Given the description of an element on the screen output the (x, y) to click on. 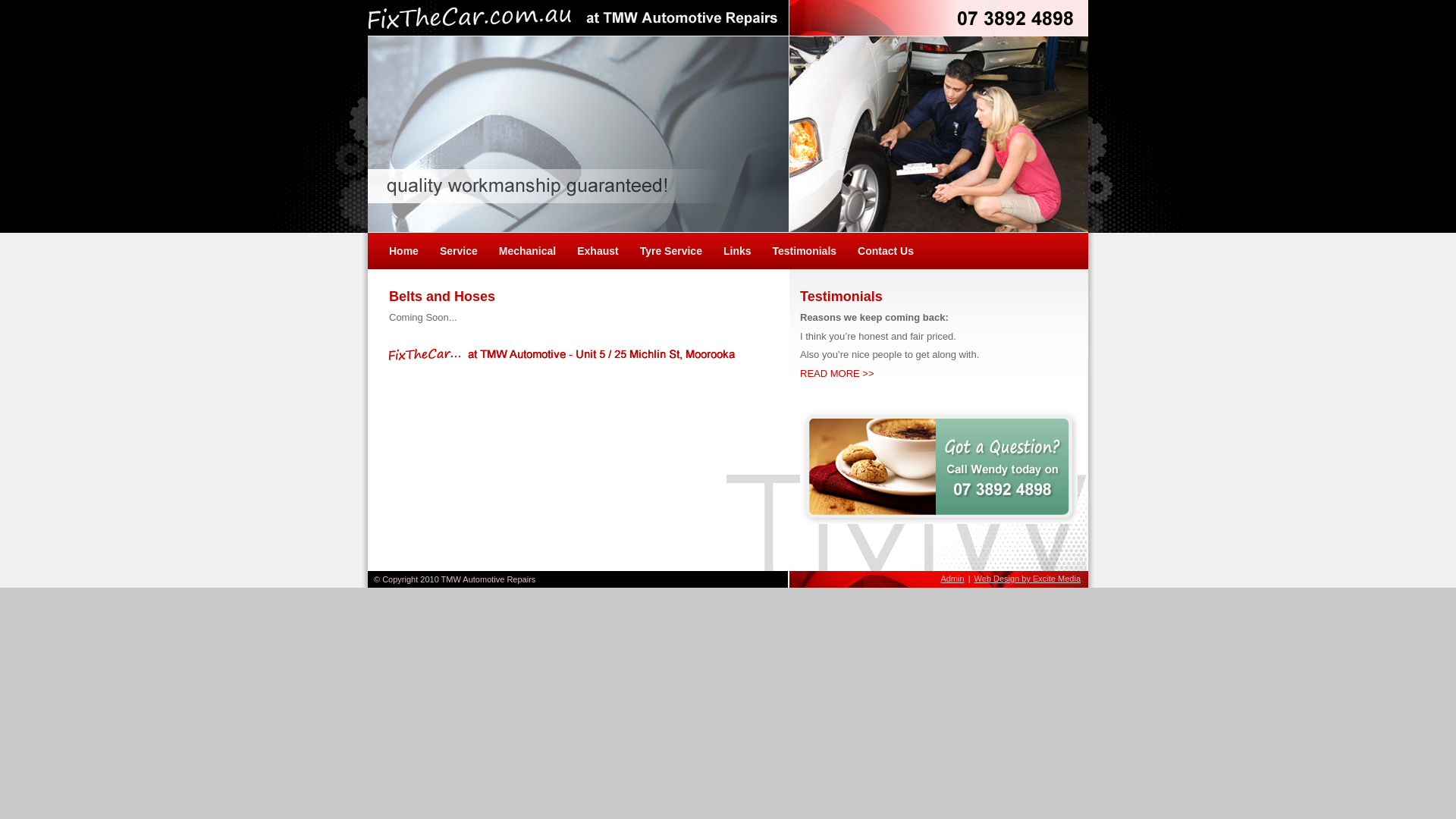
Tyre Service Element type: text (670, 250)
Service Element type: text (458, 250)
Links Element type: text (737, 250)
Admin Element type: text (951, 578)
Exhaust Element type: text (597, 250)
Testimonials Element type: text (804, 250)
READ MORE >> Element type: text (837, 373)
Web Design by Excite Media Element type: text (1027, 578)
Contact Us Element type: text (880, 250)
Home Element type: text (403, 250)
   Element type: text (802, 409)
Mechanical Element type: text (527, 250)
